Given the description of an element on the screen output the (x, y) to click on. 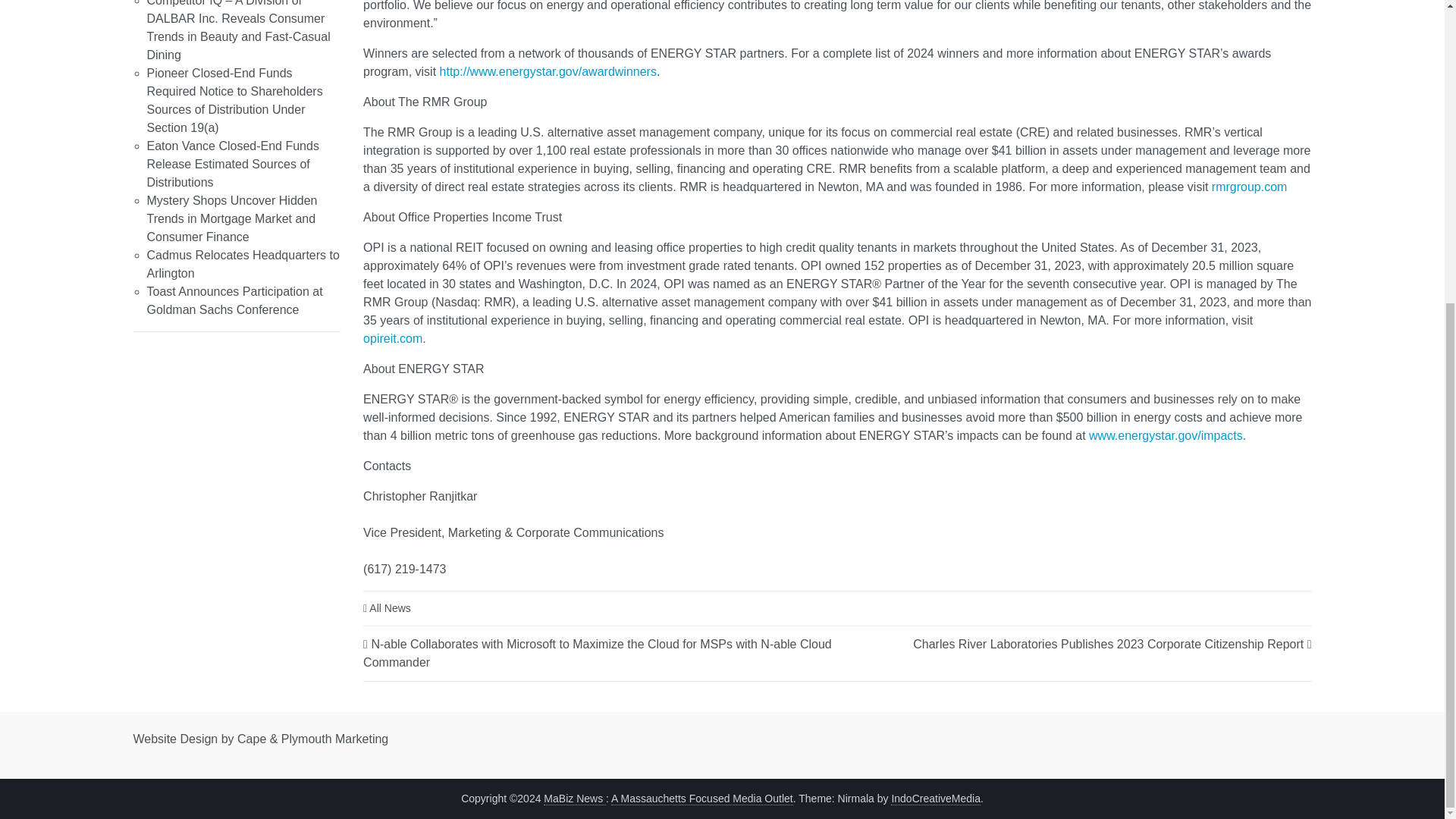
rmrgroup.com (1249, 186)
All News (389, 607)
Cadmus Relocates Headquarters to Arlington (243, 264)
Website Design (175, 738)
MaBiz News (574, 797)
opireit.com (392, 338)
